Given the description of an element on the screen output the (x, y) to click on. 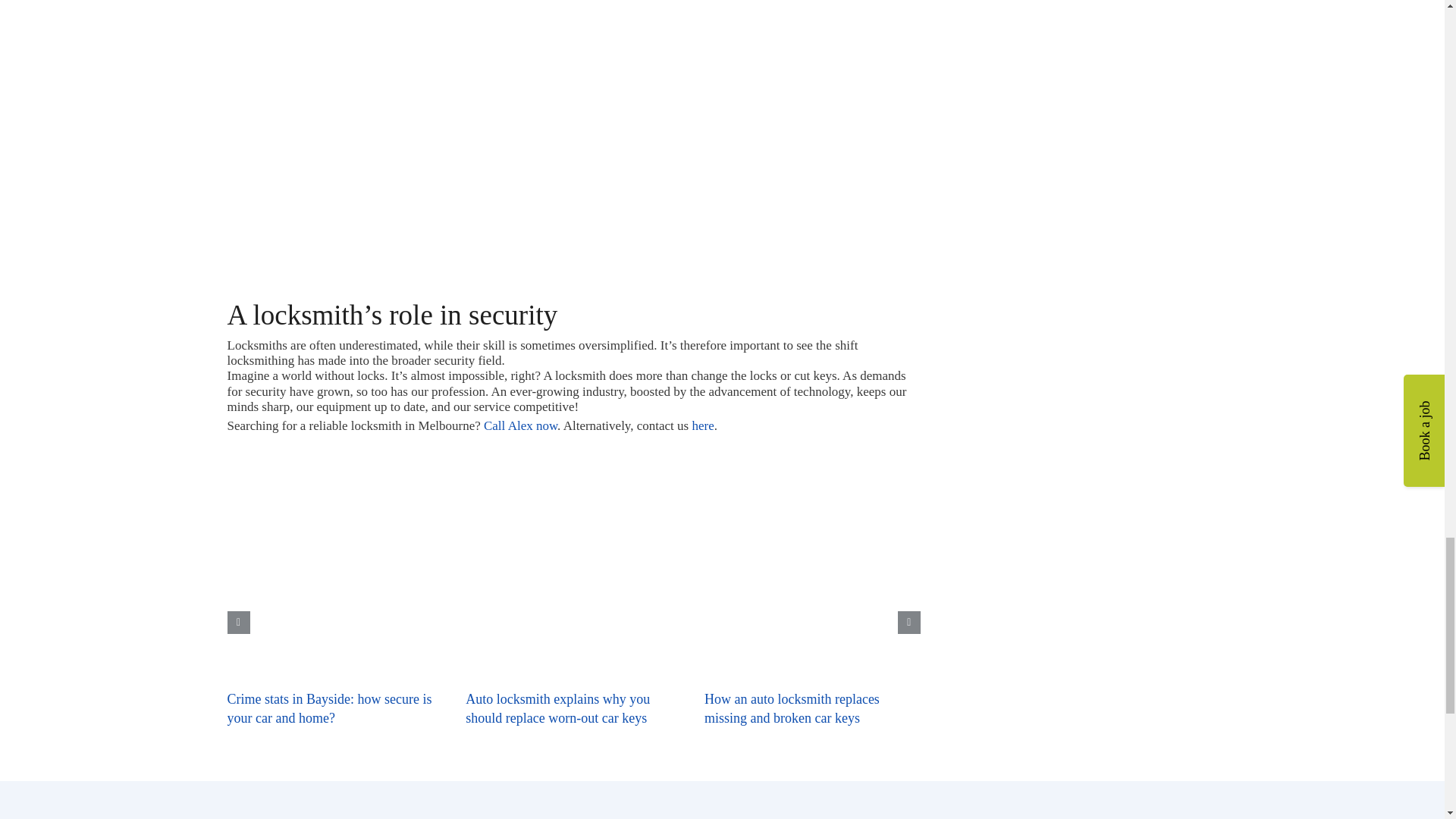
How an auto locksmith replaces missing and broken car keys (791, 707)
Crime stats in Bayside: how secure is your car and home? (329, 707)
